Given the description of an element on the screen output the (x, y) to click on. 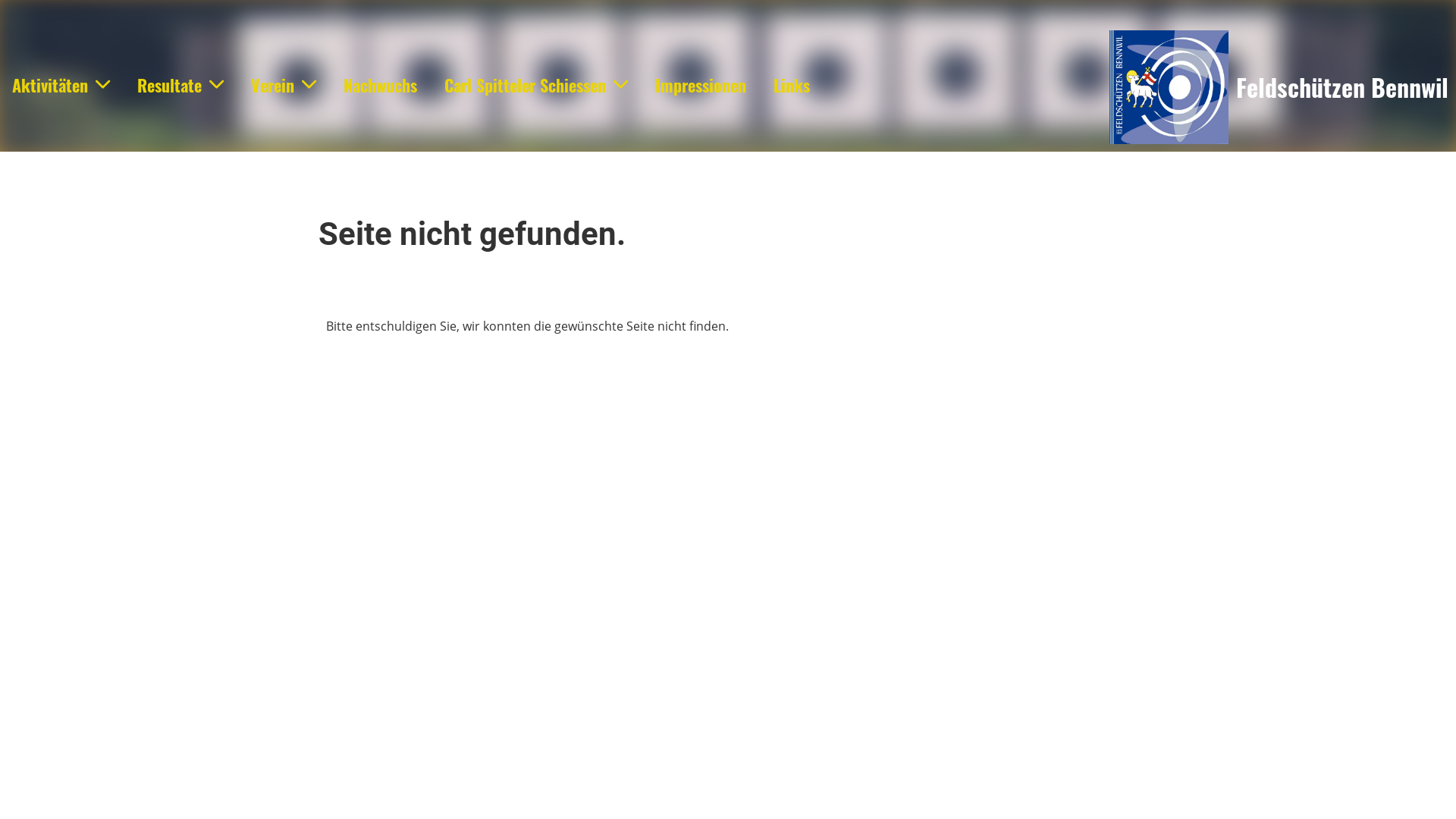
Impressionen Element type: text (700, 84)
Nachwuchs Element type: text (380, 84)
Resultate Element type: text (180, 84)
Links Element type: text (791, 84)
Carl Spitteler Schiessen Element type: text (536, 84)
Verein Element type: text (283, 84)
